Given the description of an element on the screen output the (x, y) to click on. 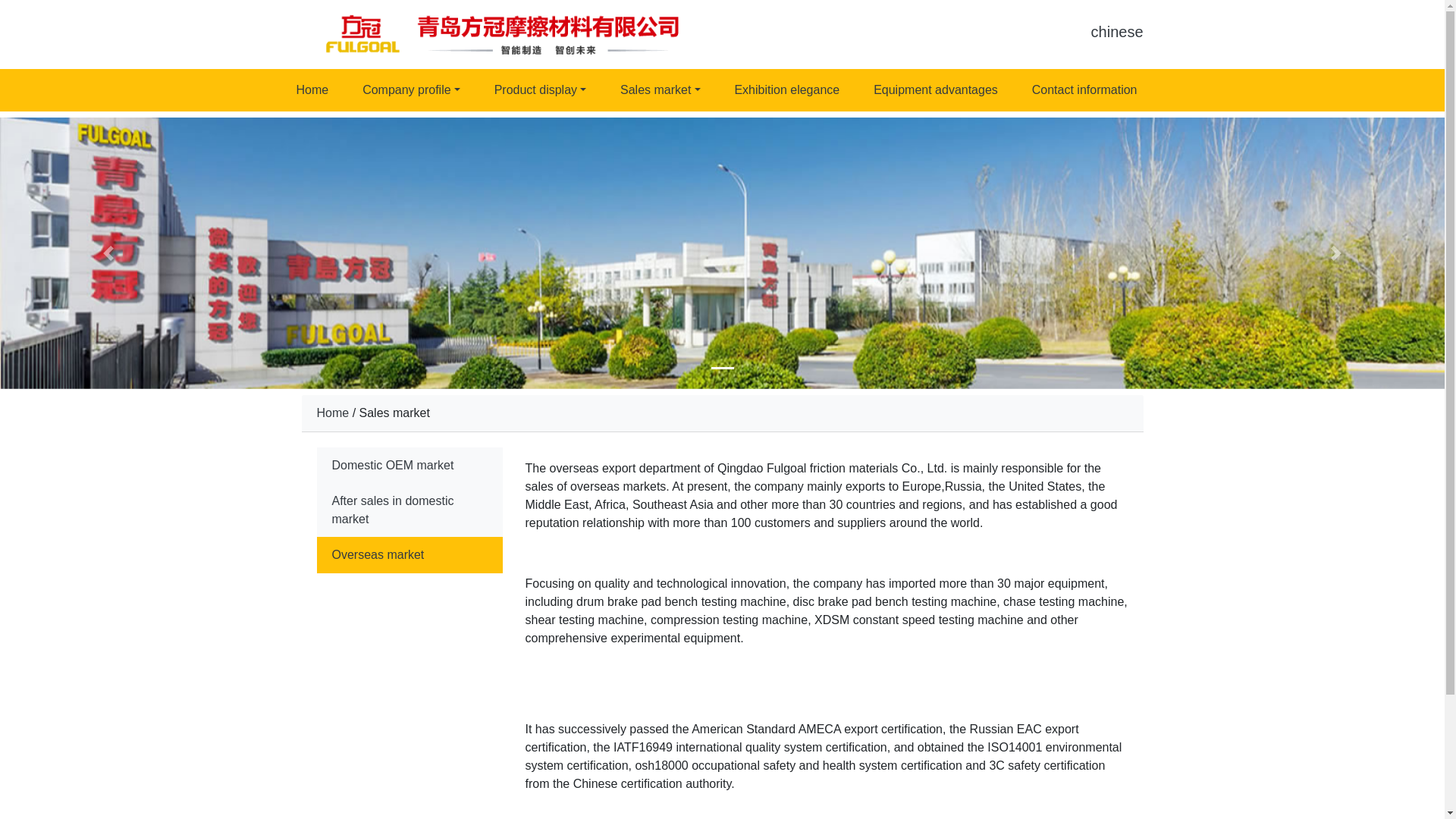
Home (333, 412)
Domestic OEM market (409, 465)
chinese (1116, 31)
Company profile (410, 90)
Overseas market (409, 555)
After sales in domestic market (409, 510)
Equipment advantages (935, 90)
Sales market (660, 90)
Exhibition elegance (786, 90)
Product display (539, 90)
Contact information (1084, 90)
Home (311, 90)
